Given the description of an element on the screen output the (x, y) to click on. 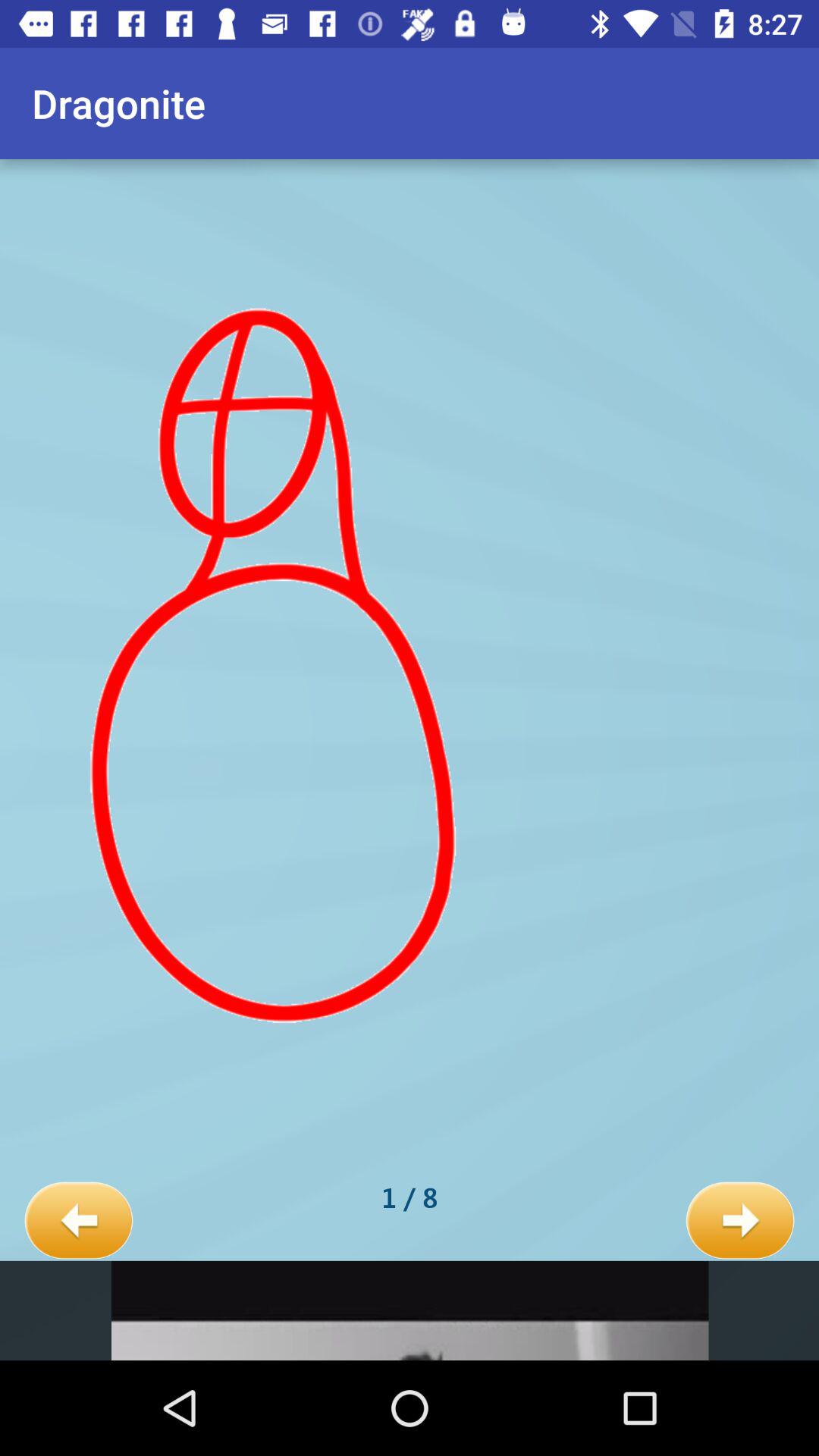
turn on the icon next to the 1 / 8 (78, 1220)
